Given the description of an element on the screen output the (x, y) to click on. 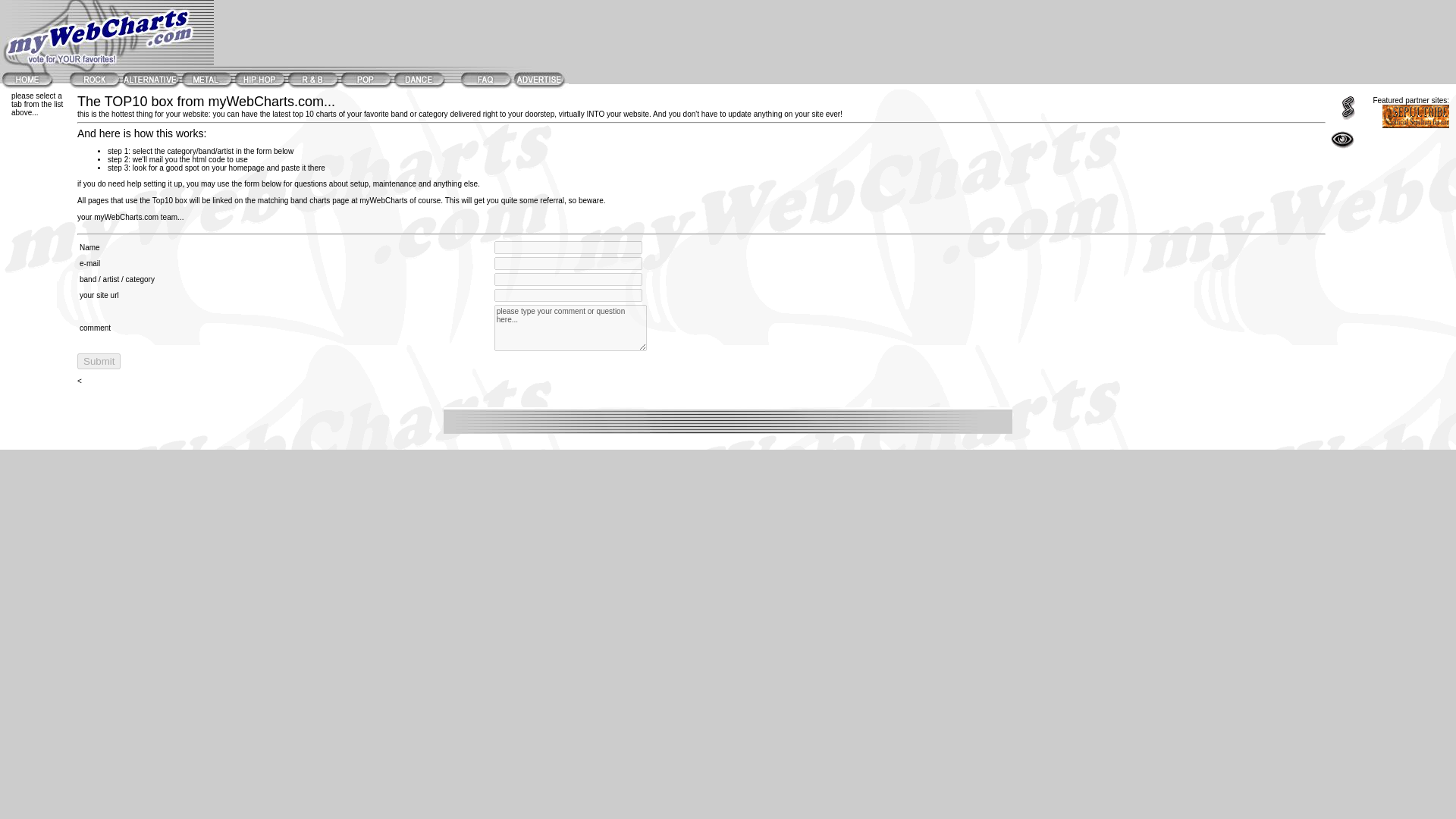
Submit (98, 360)
Submit (98, 360)
